Given the description of an element on the screen output the (x, y) to click on. 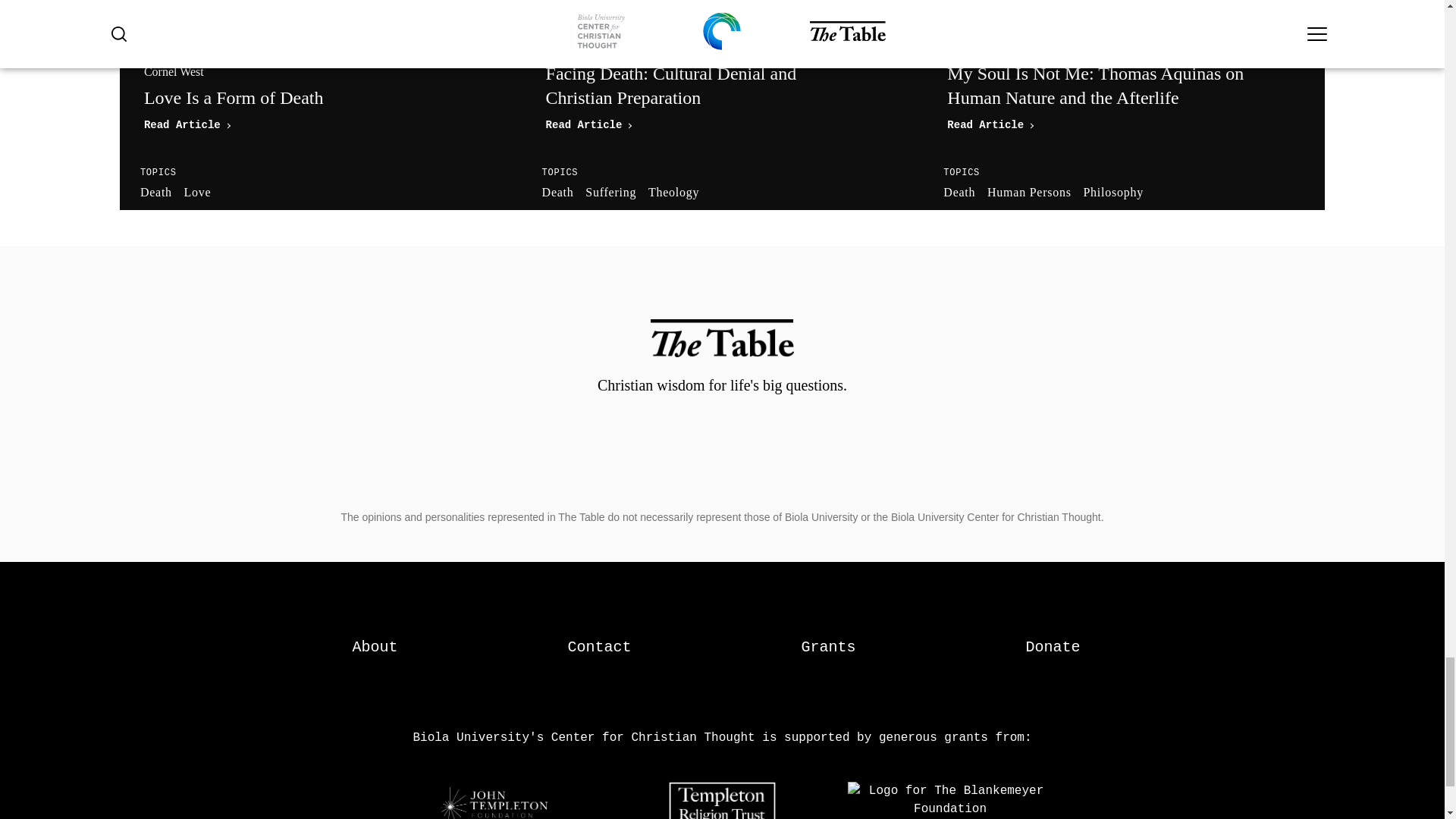
Go to page Grants (320, 97)
Go to page Donate (828, 647)
More: Love Is a Form of Death (1052, 647)
Go to page About (320, 97)
About (374, 647)
Contact (374, 647)
Go to page Contact (599, 647)
